Given the description of an element on the screen output the (x, y) to click on. 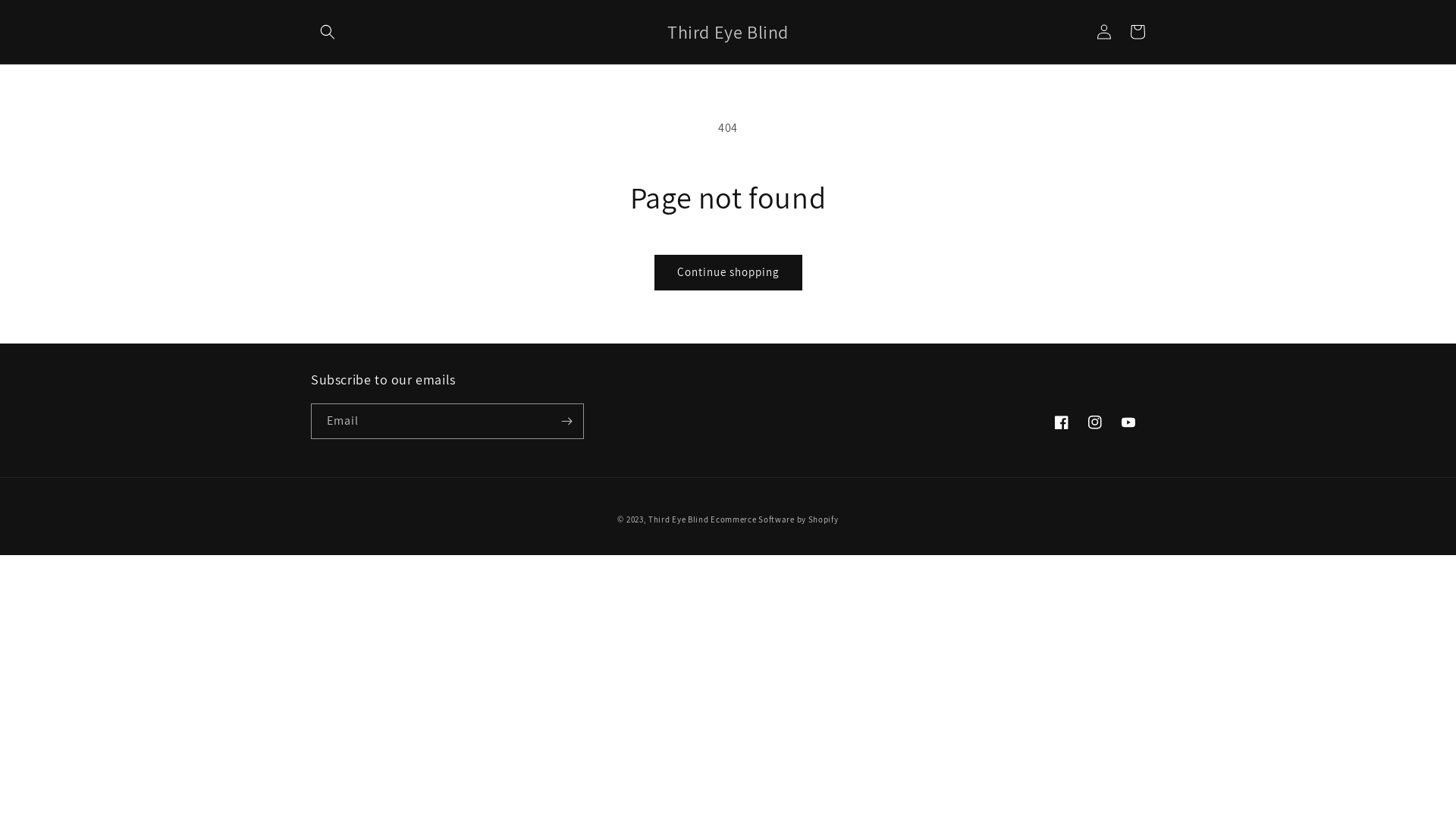
Third Eye Blind Element type: text (678, 519)
Continue shopping Element type: text (727, 272)
Log in Element type: text (1103, 31)
YouTube Element type: text (1128, 422)
Third Eye Blind Element type: text (727, 31)
Facebook Element type: text (1061, 422)
Instagram Element type: text (1094, 422)
Ecommerce Software by Shopify Element type: text (773, 519)
Cart Element type: text (1137, 31)
